Given the description of an element on the screen output the (x, y) to click on. 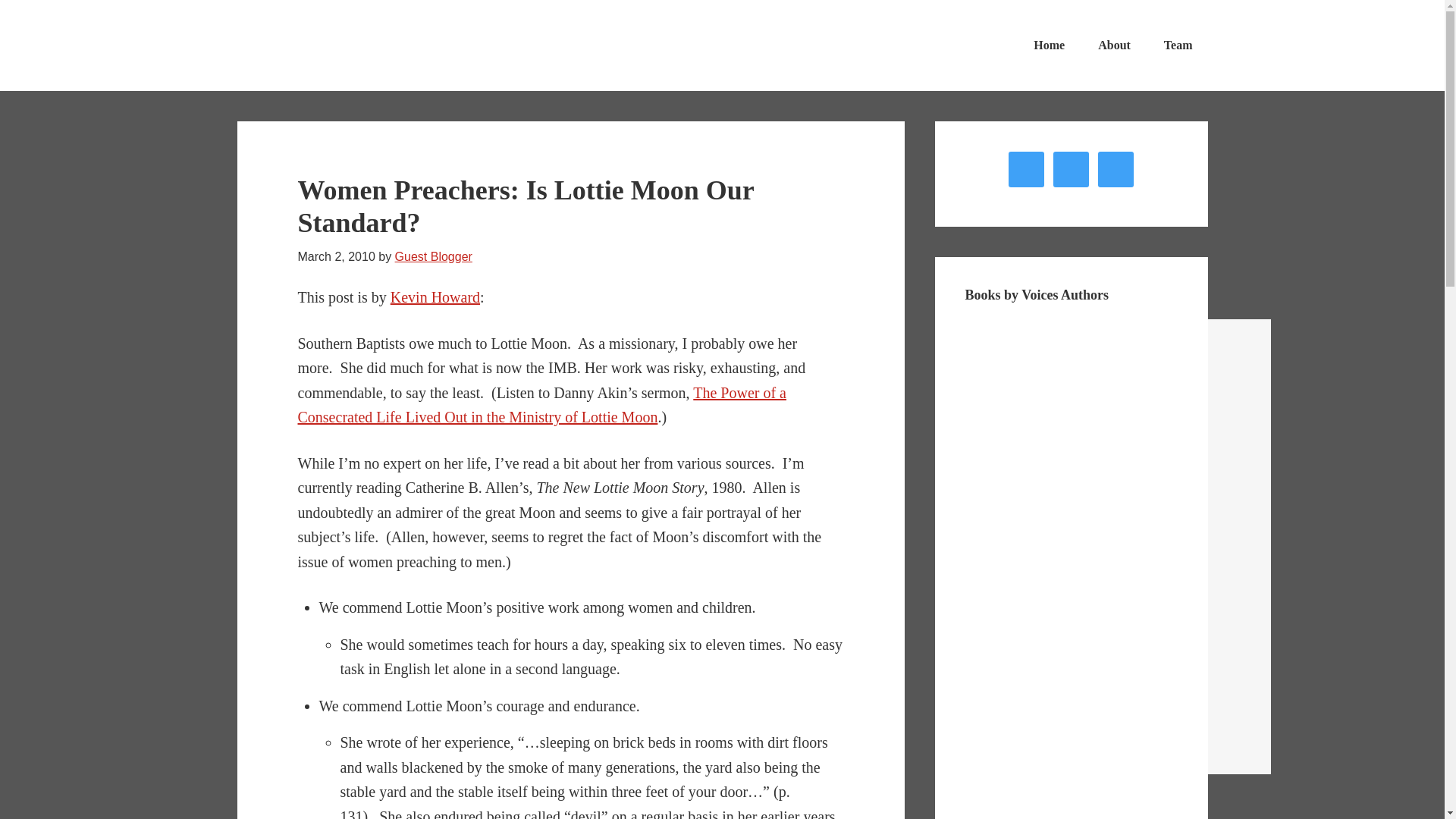
About (1114, 45)
SBC Voices (349, 45)
Home (1048, 45)
Kevin Howard (435, 297)
Guest Blogger (432, 256)
Team (1178, 45)
